Given the description of an element on the screen output the (x, y) to click on. 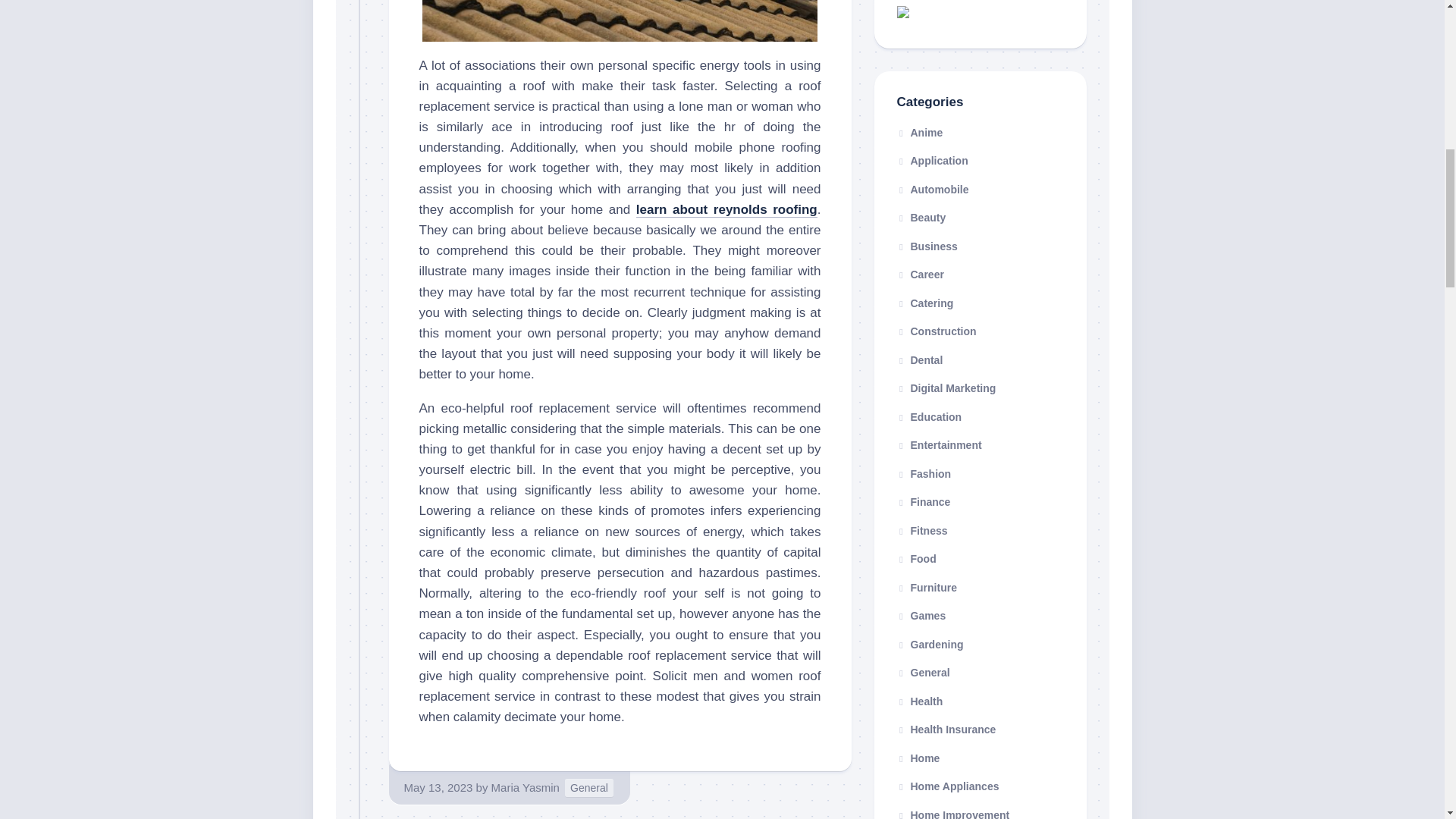
Beauty (920, 217)
Construction (935, 331)
Entertainment (938, 444)
Education (928, 417)
Application (932, 160)
Business (926, 245)
Dental (919, 358)
learn about reynolds roofing (726, 209)
Posts by Maria Yasmin (525, 787)
Career (919, 274)
